Given the description of an element on the screen output the (x, y) to click on. 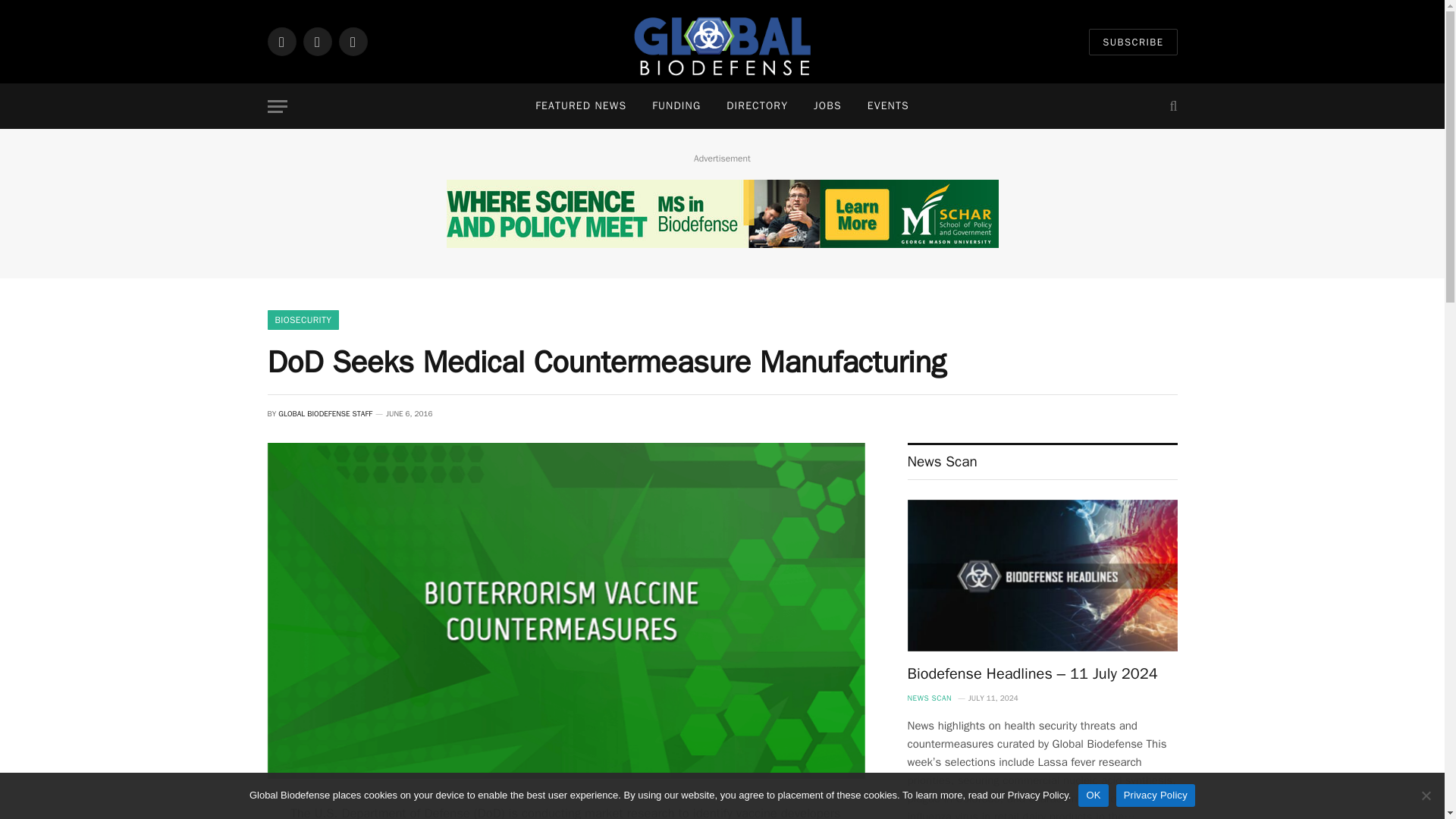
Facebook (280, 41)
FUNDING (676, 105)
GLOBAL BIODEFENSE STAFF (325, 413)
FEATURED NEWS (580, 105)
EVENTS (887, 105)
JOBS (827, 105)
DIRECTORY (756, 105)
SUBSCRIBE (1132, 41)
Biosecurity and Biodefense Jobs (827, 105)
BIOSECURITY (302, 320)
Global Biodefense (721, 41)
Posts by Global Biodefense Staff (325, 413)
Threads (351, 41)
Instagram (316, 41)
